Given the description of an element on the screen output the (x, y) to click on. 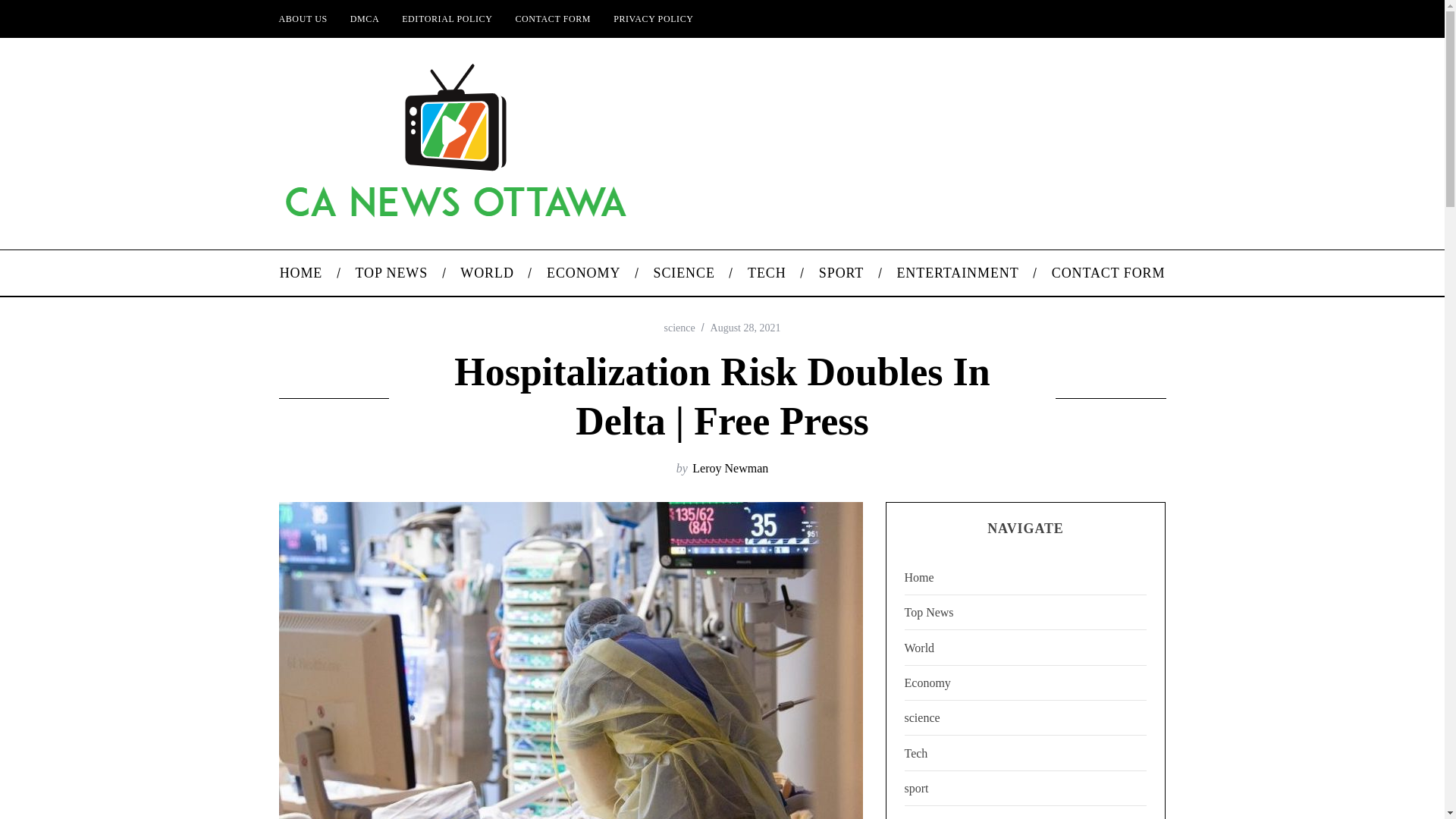
TECH (766, 272)
CONTACT FORM (1107, 272)
EDITORIAL POLICY (446, 18)
ABOUT US (301, 18)
Home (1025, 577)
ENTERTAINMENT (957, 272)
PRIVACY POLICY (653, 18)
CONTACT FORM (552, 18)
DMCA (364, 18)
SPORT (841, 272)
